Given the description of an element on the screen output the (x, y) to click on. 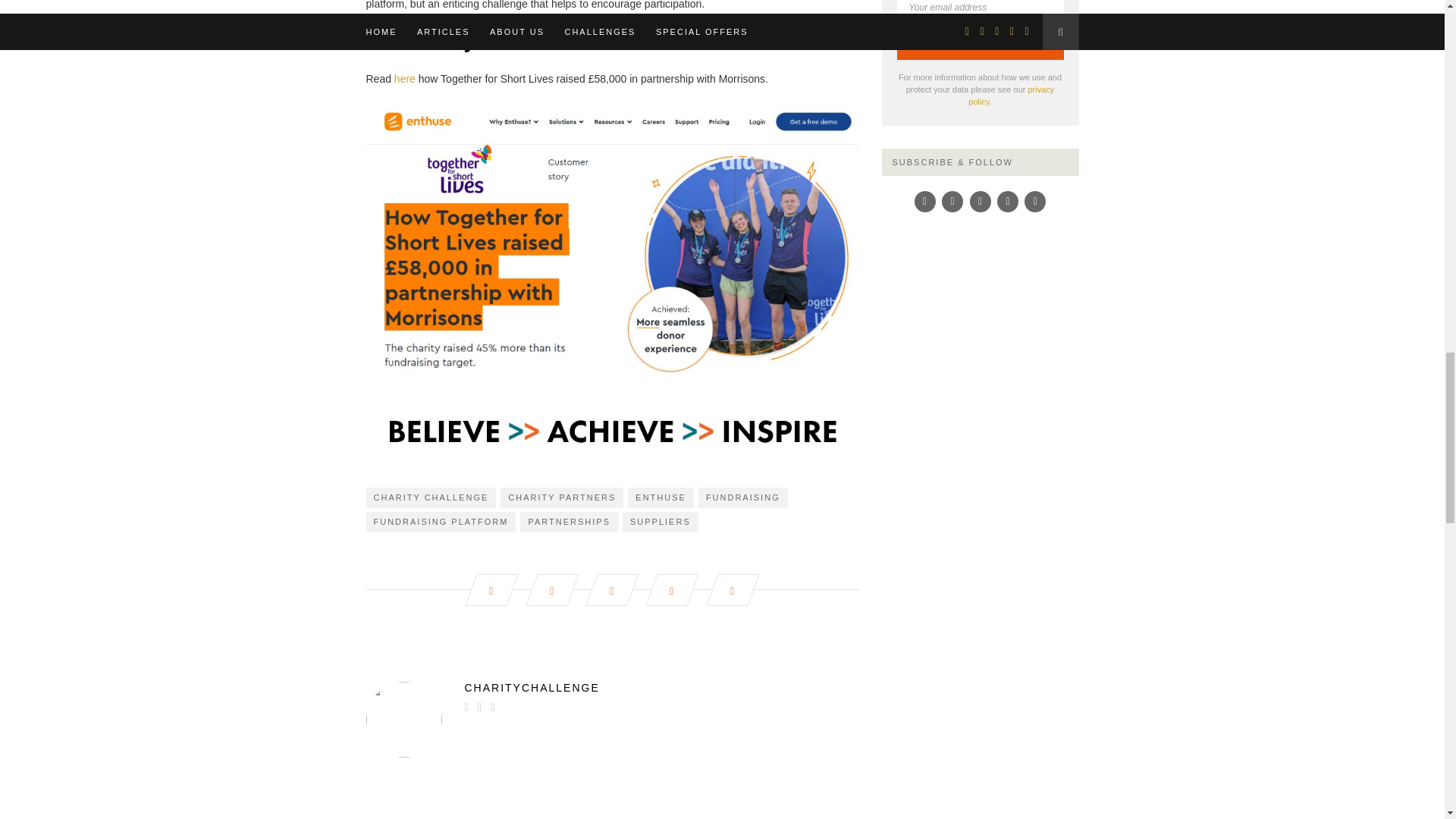
PARTNERSHIPS (568, 521)
Subscribe (979, 45)
CHARITY CHALLENGE (430, 497)
Posts by CharityChallenge (612, 687)
SUPPLIERS (660, 521)
ENTHUSE (660, 497)
FUNDRAISING PLATFORM (440, 521)
CHARITY PARTNERS (561, 497)
here (404, 78)
FUNDRAISING (742, 497)
